Given the description of an element on the screen output the (x, y) to click on. 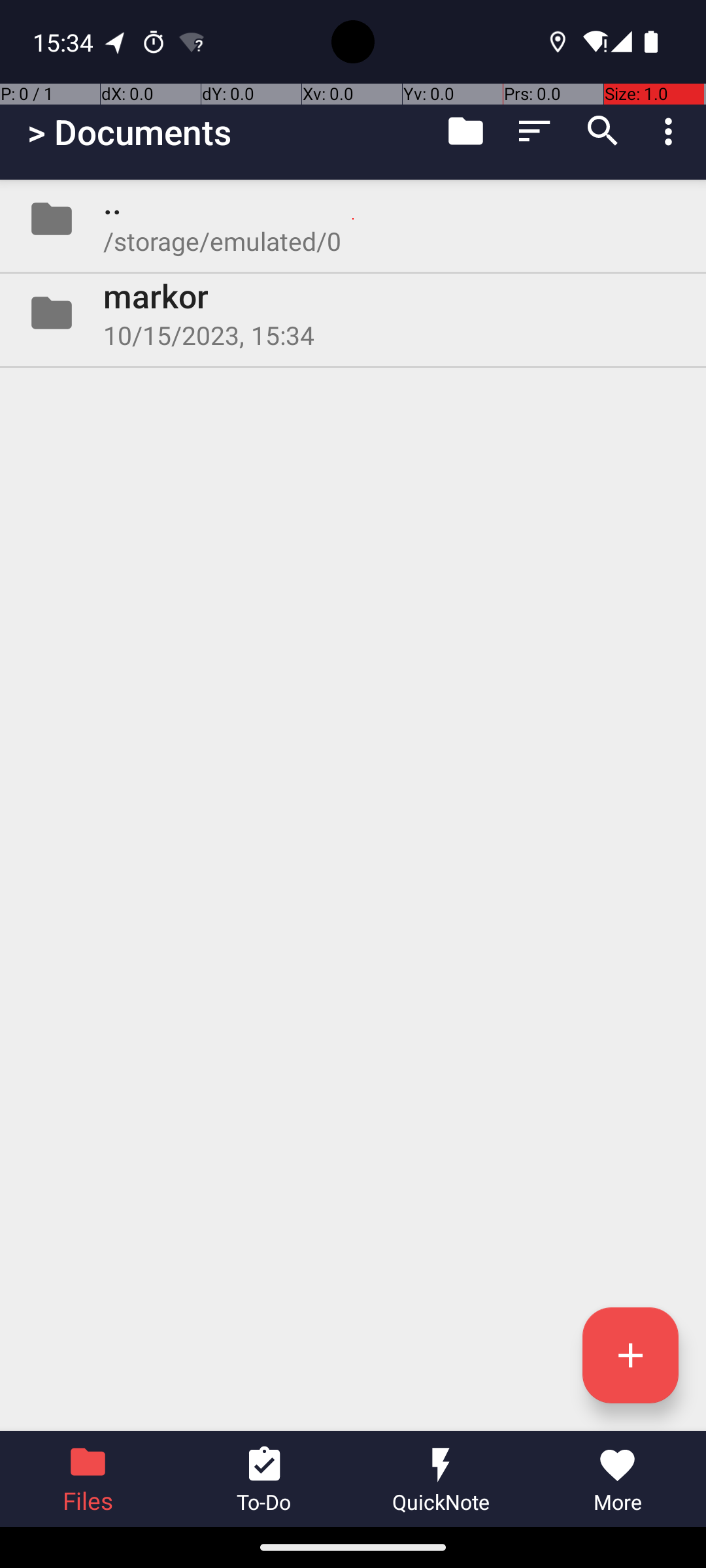
Folder markor  Element type: android.widget.LinearLayout (353, 312)
